Given the description of an element on the screen output the (x, y) to click on. 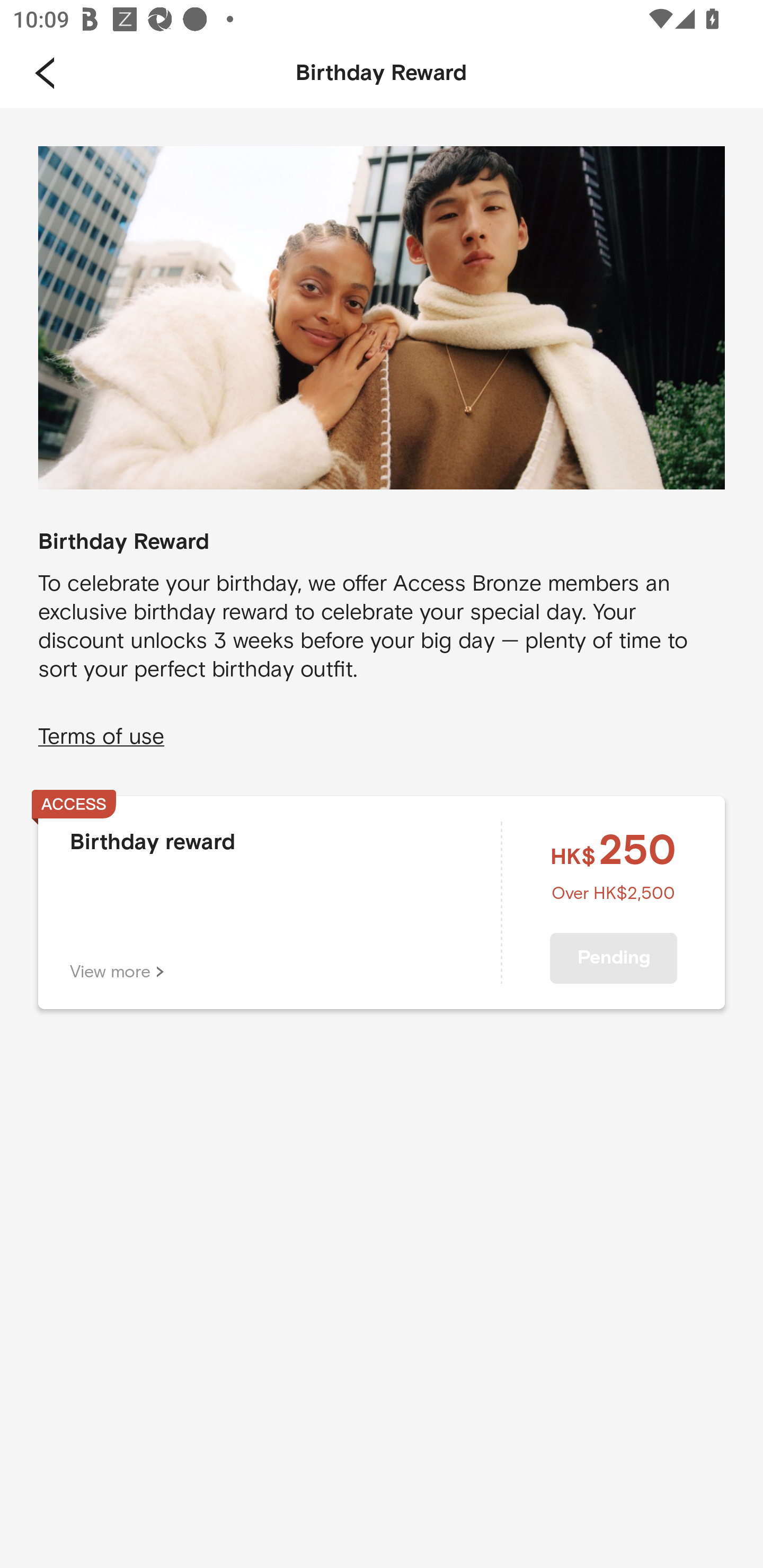
Pending (613, 957)
View more (117, 971)
